Given the description of an element on the screen output the (x, y) to click on. 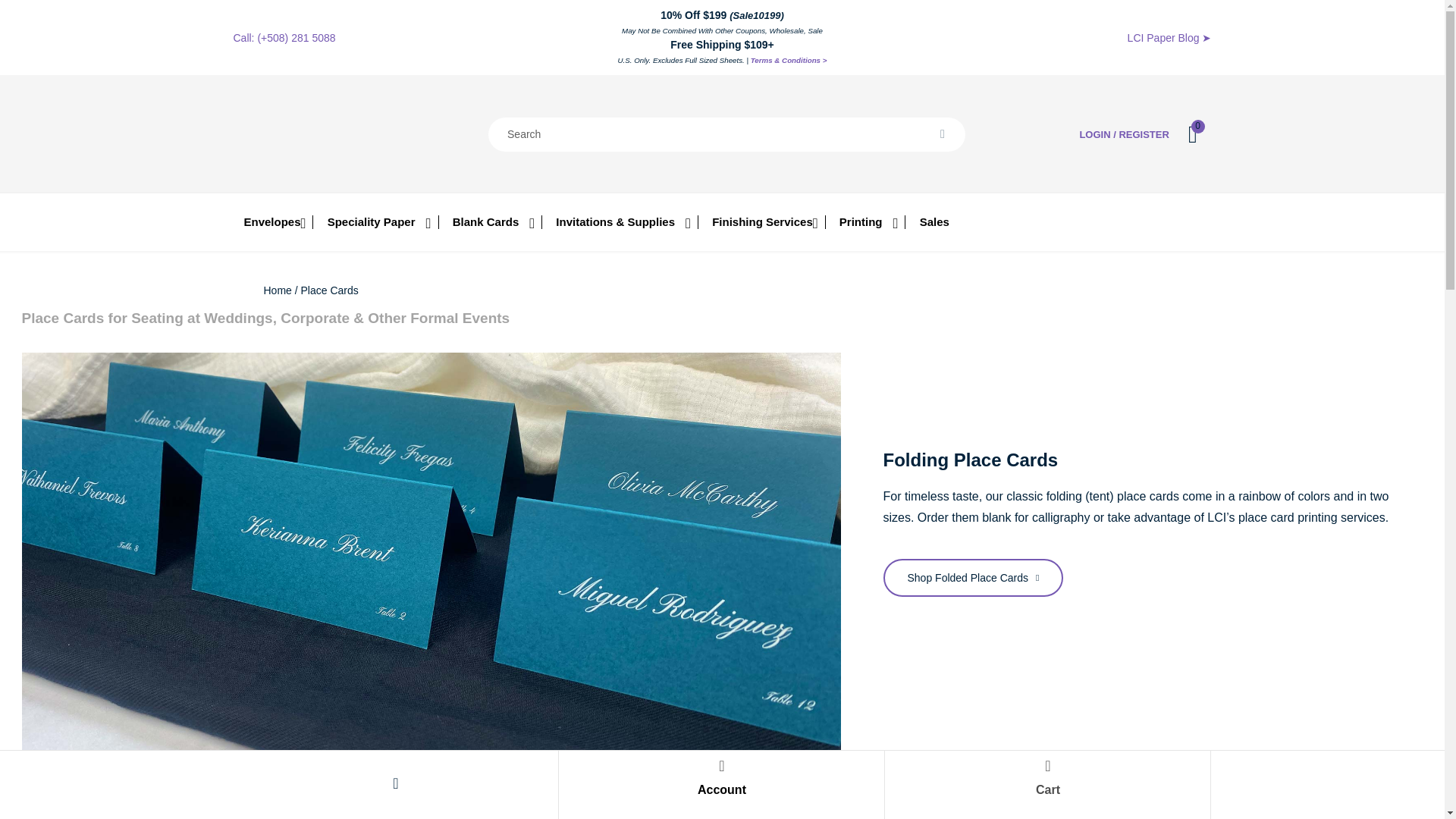
Envelopes (273, 222)
Printable Place Cards (721, 811)
Search (942, 133)
Round Place Cards (1190, 811)
Flat Place Cards (253, 811)
